Given the description of an element on the screen output the (x, y) to click on. 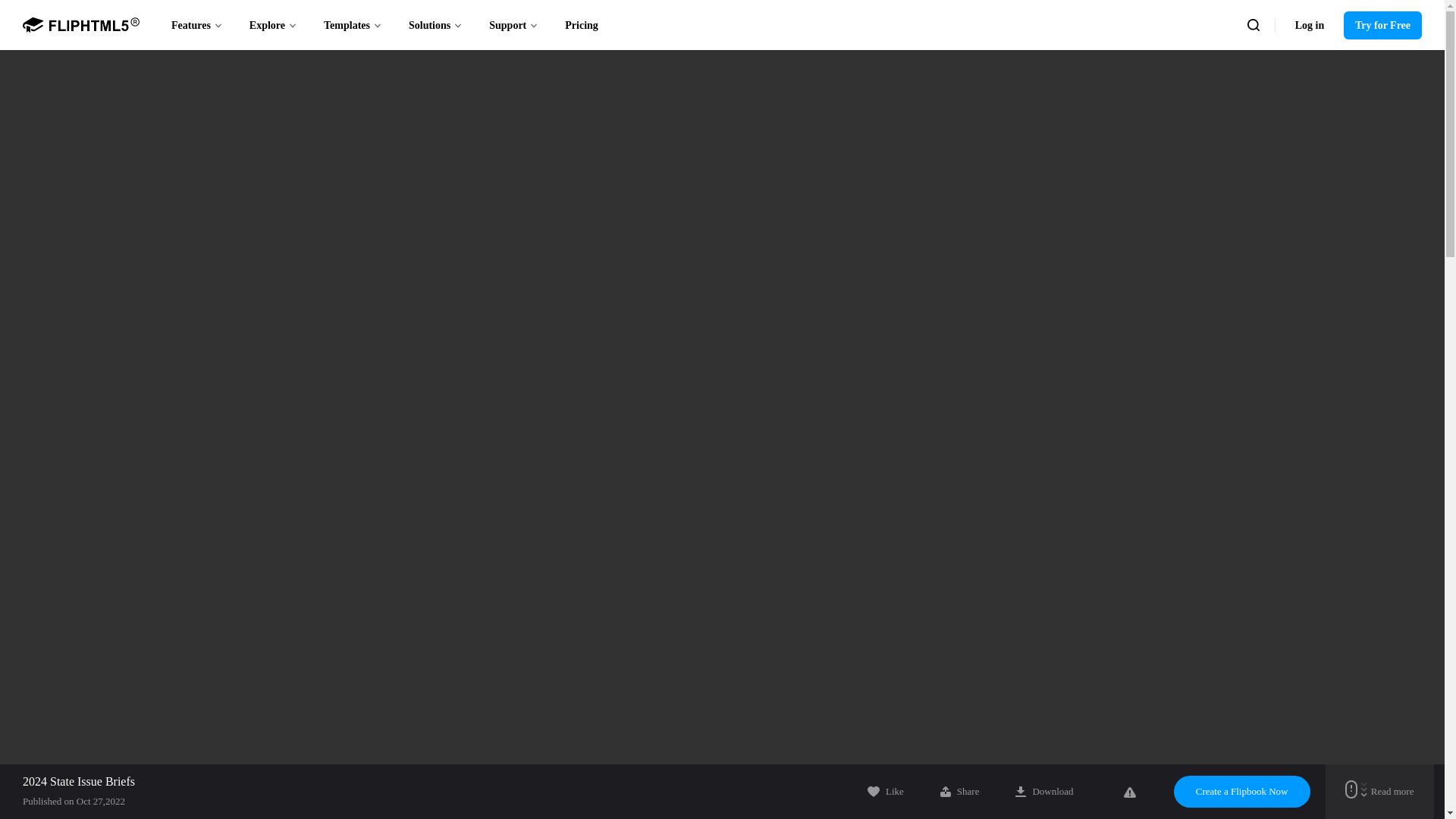
Features (196, 24)
Add to My Favorites (885, 791)
Explore (272, 24)
The publisher doesn't allow readers to download this book. (1043, 791)
